Given the description of an element on the screen output the (x, y) to click on. 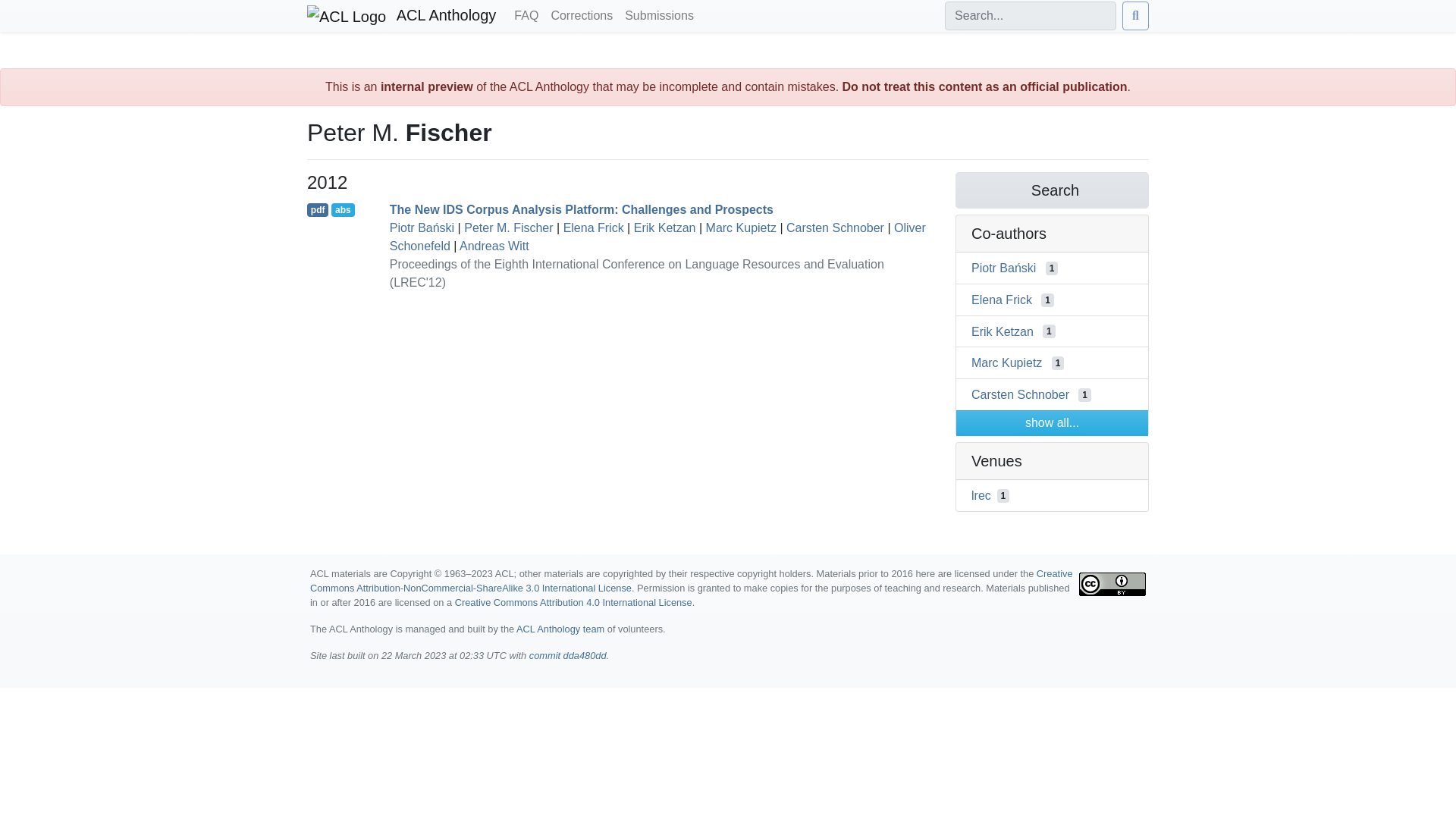
Peter M. Fischer (508, 227)
Search (1051, 189)
Creative Commons Attribution 4.0 International License (573, 602)
Carsten Schnober (834, 227)
Search for 'Peter M. Fischer' on Semantic Scholar (1051, 189)
Andreas Witt (494, 245)
ACL Anthology (401, 15)
Erik Ketzan (1002, 330)
Carsten Schnober (1019, 394)
